Given the description of an element on the screen output the (x, y) to click on. 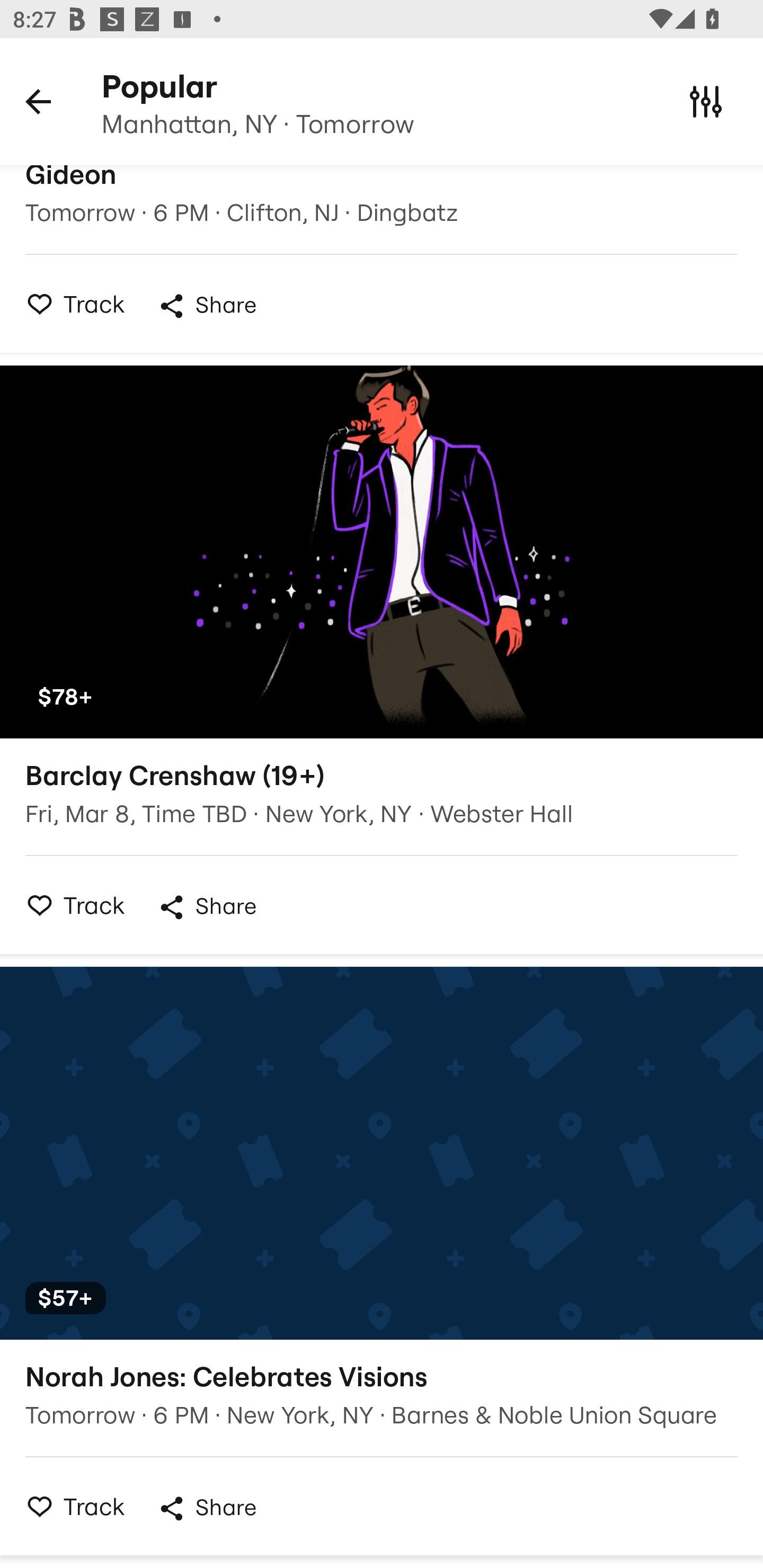
Back (38, 100)
Close (705, 100)
Track (70, 303)
Share (207, 306)
Track (70, 904)
Share (207, 906)
Track (70, 1505)
Share (207, 1509)
